Given the description of an element on the screen output the (x, y) to click on. 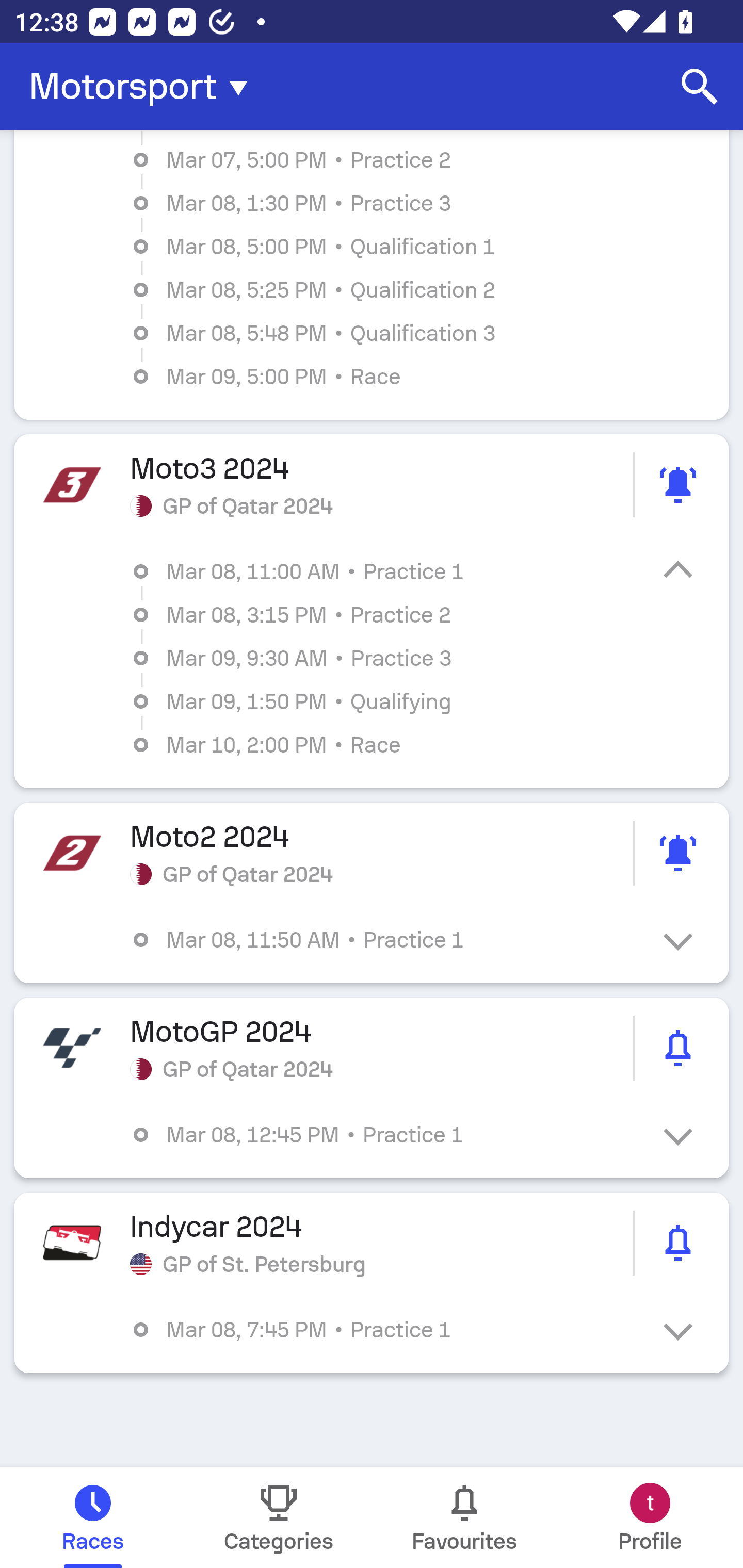
Motorsport (144, 86)
Search (699, 86)
Mar 08, 11:50 AM • Practice 1 (385, 939)
Mar 08, 12:45 PM • Practice 1 (385, 1134)
Mar 08, 7:45 PM • Practice 1 (385, 1329)
Categories (278, 1517)
Favourites (464, 1517)
Profile (650, 1517)
